Given the description of an element on the screen output the (x, y) to click on. 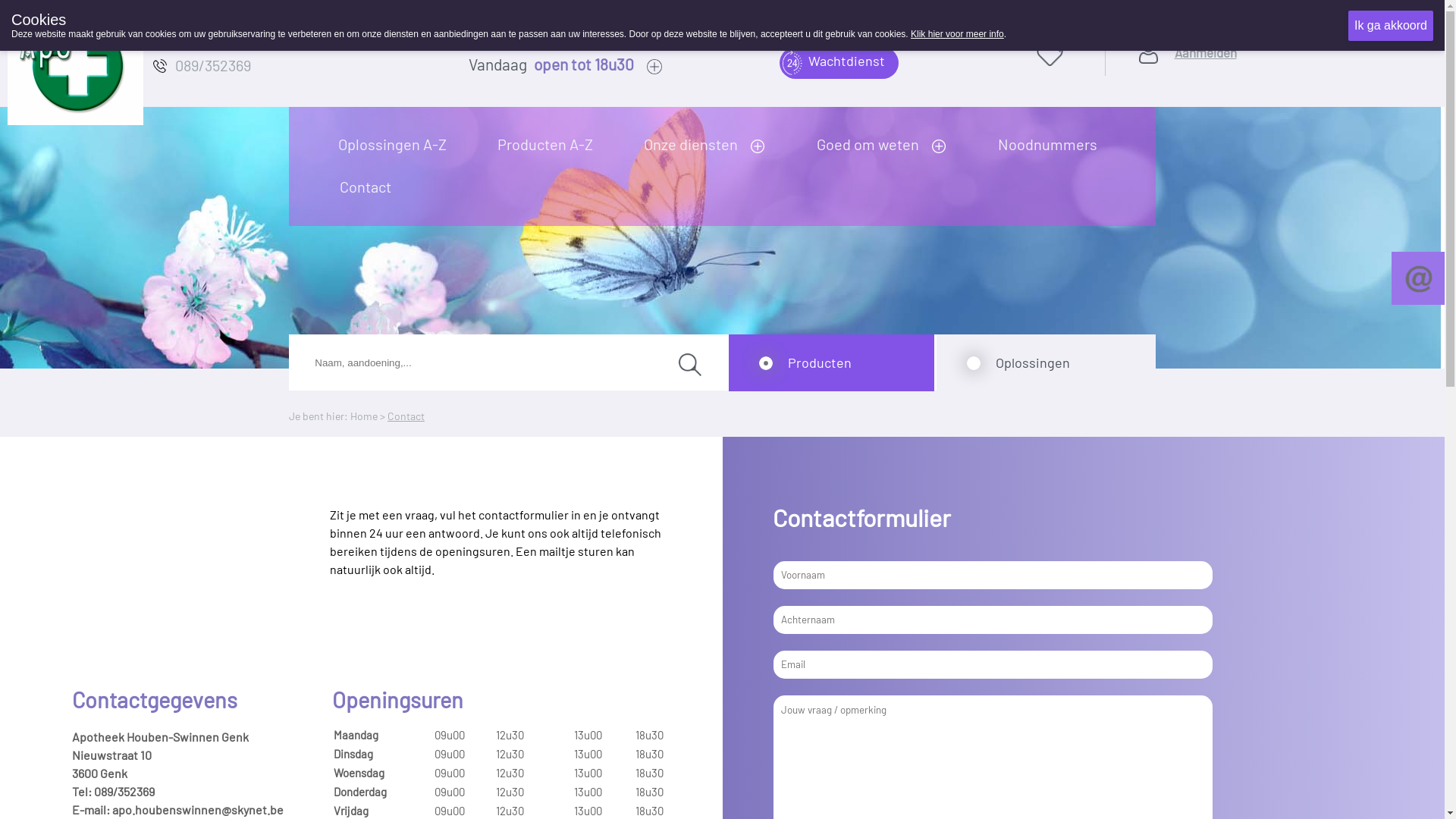
Aanmelden Element type: text (1205, 71)
Contact Element type: text (405, 415)
Oplossingen A-Z Element type: text (397, 143)
Klik hier voor meer info Element type: text (957, 33)
Onze diensten Element type: text (695, 143)
Producten A-Z Element type: text (549, 143)
Contact Element type: text (370, 186)
Noodnummers Element type: text (1052, 143)
Goed om weten Element type: text (872, 143)
Ik ga akkoord Element type: text (1390, 25)
Vandaag
open tot 18u30 Element type: text (621, 65)
Wachtdienst Element type: text (838, 62)
